Given the description of an element on the screen output the (x, y) to click on. 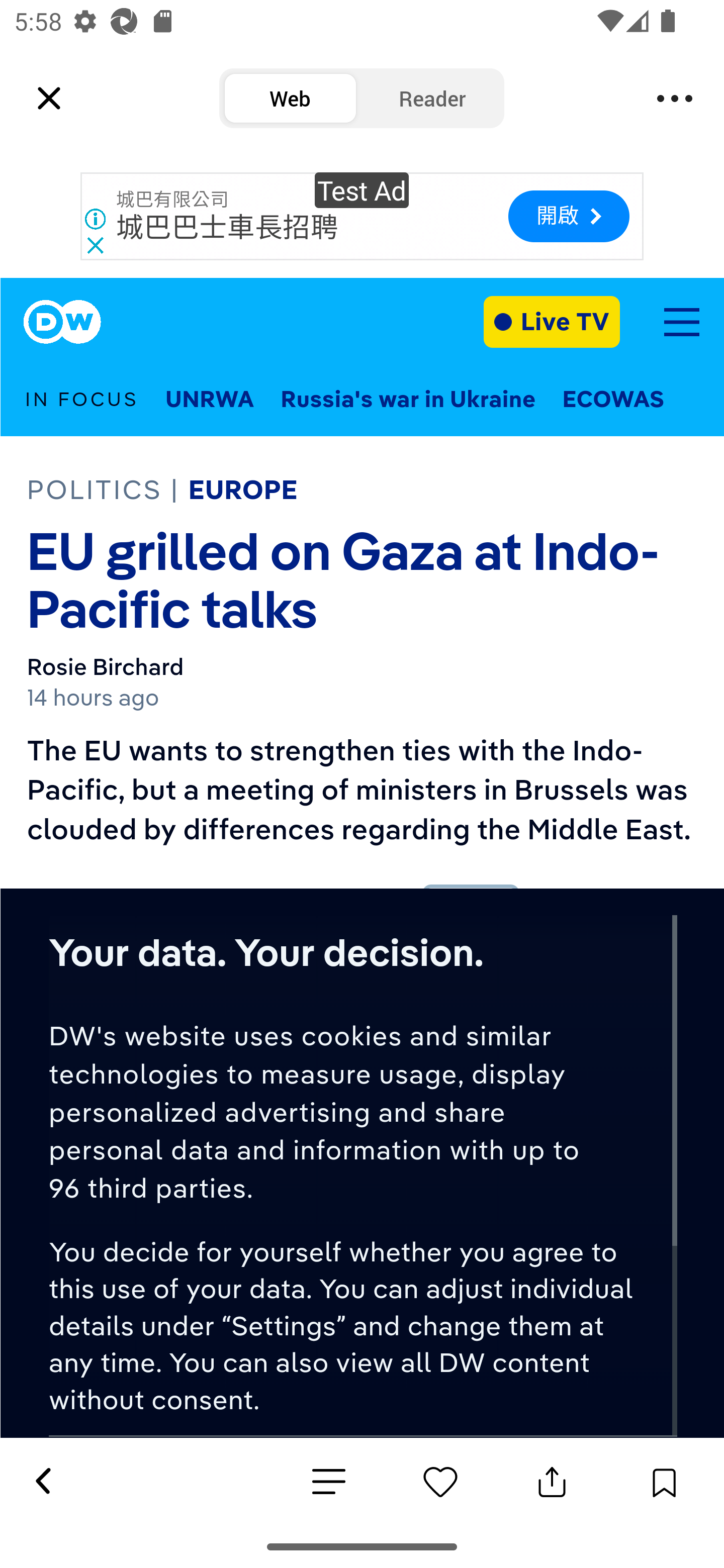
Reader (432, 98)
Menu (674, 98)
Leading Icon (49, 98)
城巴有限公司 (172, 199)
開啟 (568, 216)
城巴巴士車長招聘 (226, 227)
Open main navigation (681, 322)
Live TV (551, 321)
dw.com home - Made for minds (61, 321)
UNRWA (209, 399)
Russia's war in Ukraine (408, 399)
ECOWAS (613, 399)
EUROPE (242, 488)
Back Button (42, 1481)
News Detail Emotion (440, 1481)
Share Button (551, 1481)
Save Button (663, 1481)
News Detail Emotion (329, 1482)
